Given the description of an element on the screen output the (x, y) to click on. 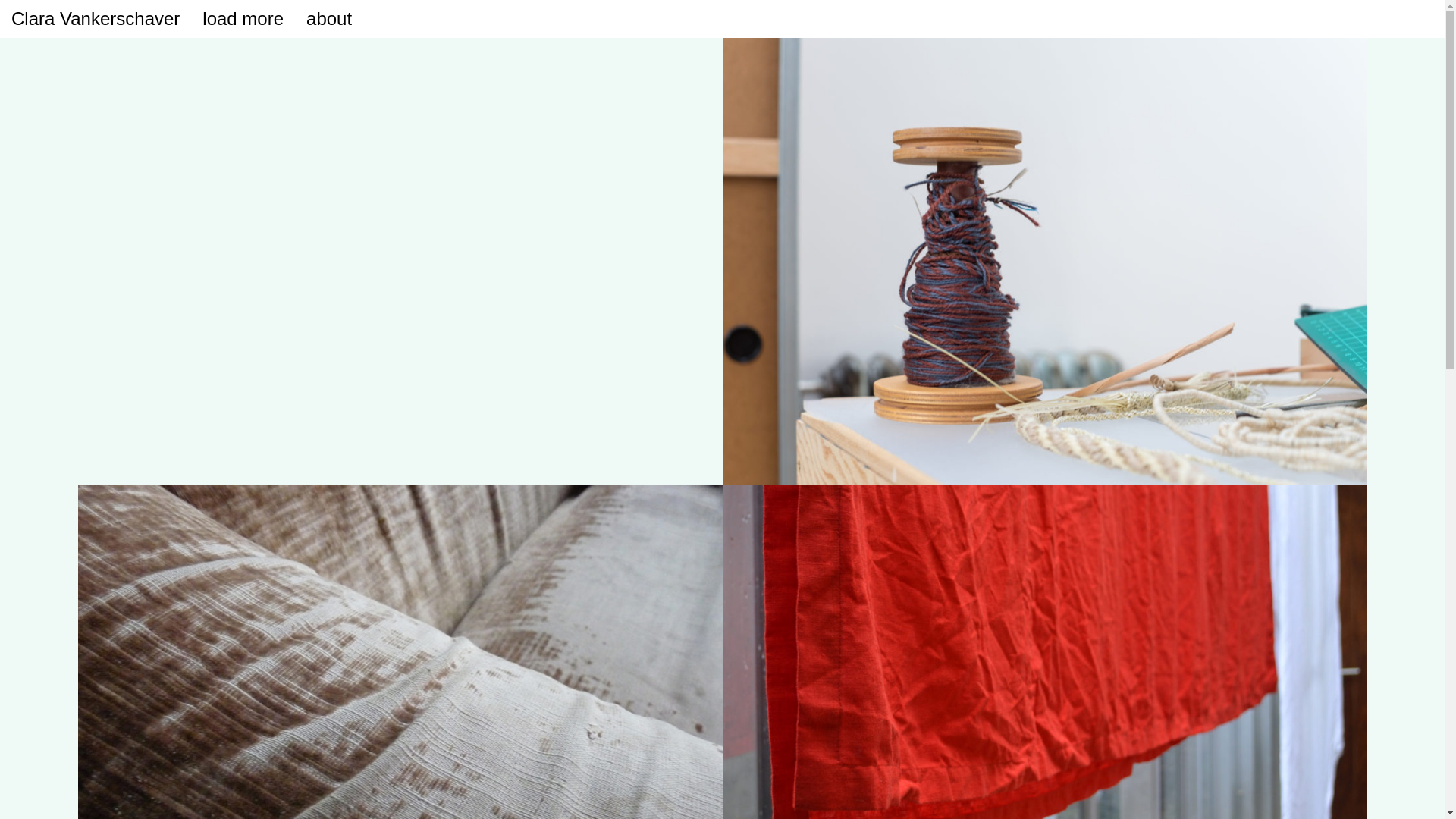
load more Element type: text (242, 18)
Clara Vankerschaver Element type: text (95, 18)
about Element type: text (328, 18)
